Given the description of an element on the screen output the (x, y) to click on. 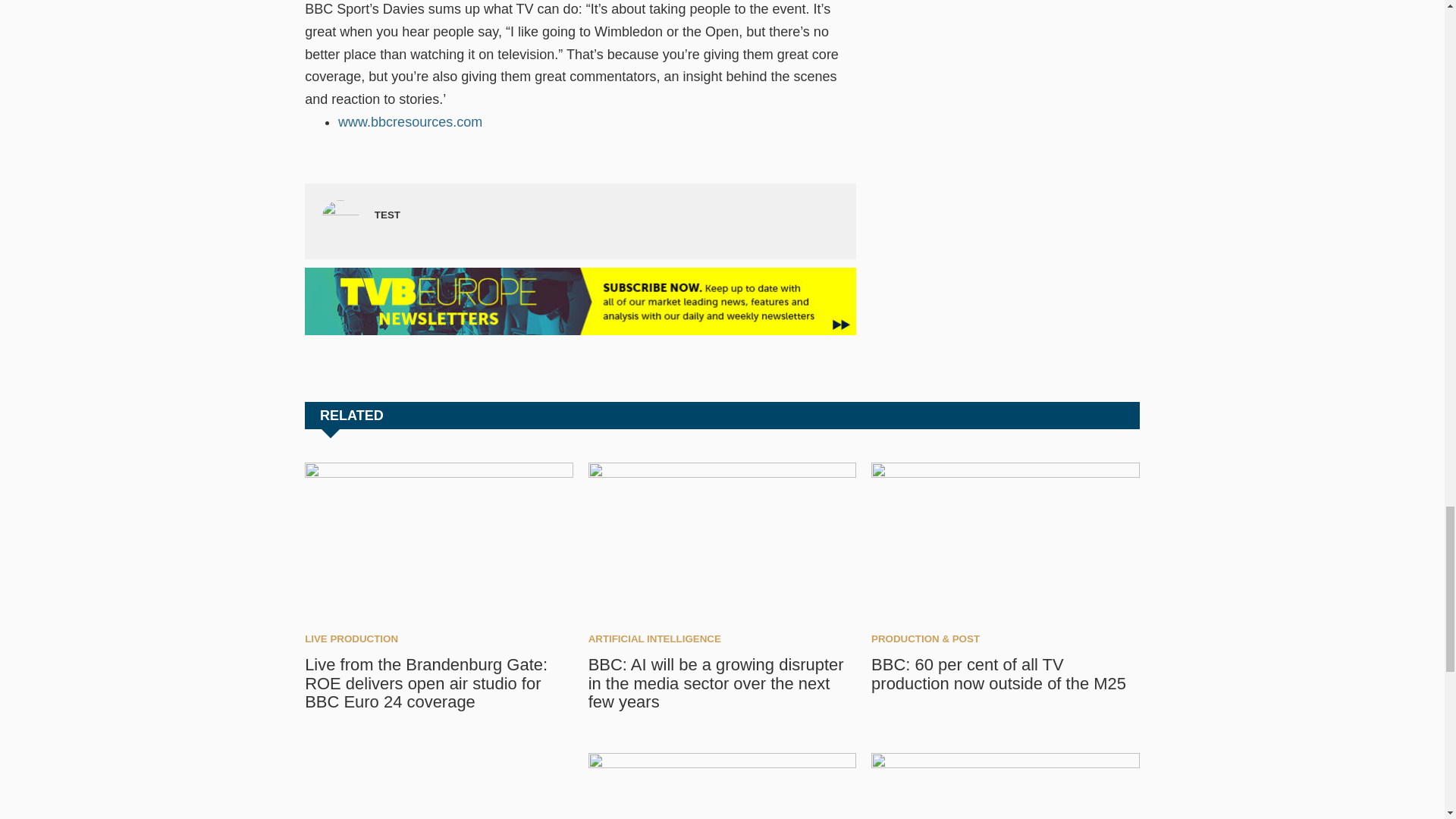
test's Author Profile (387, 214)
